Given the description of an element on the screen output the (x, y) to click on. 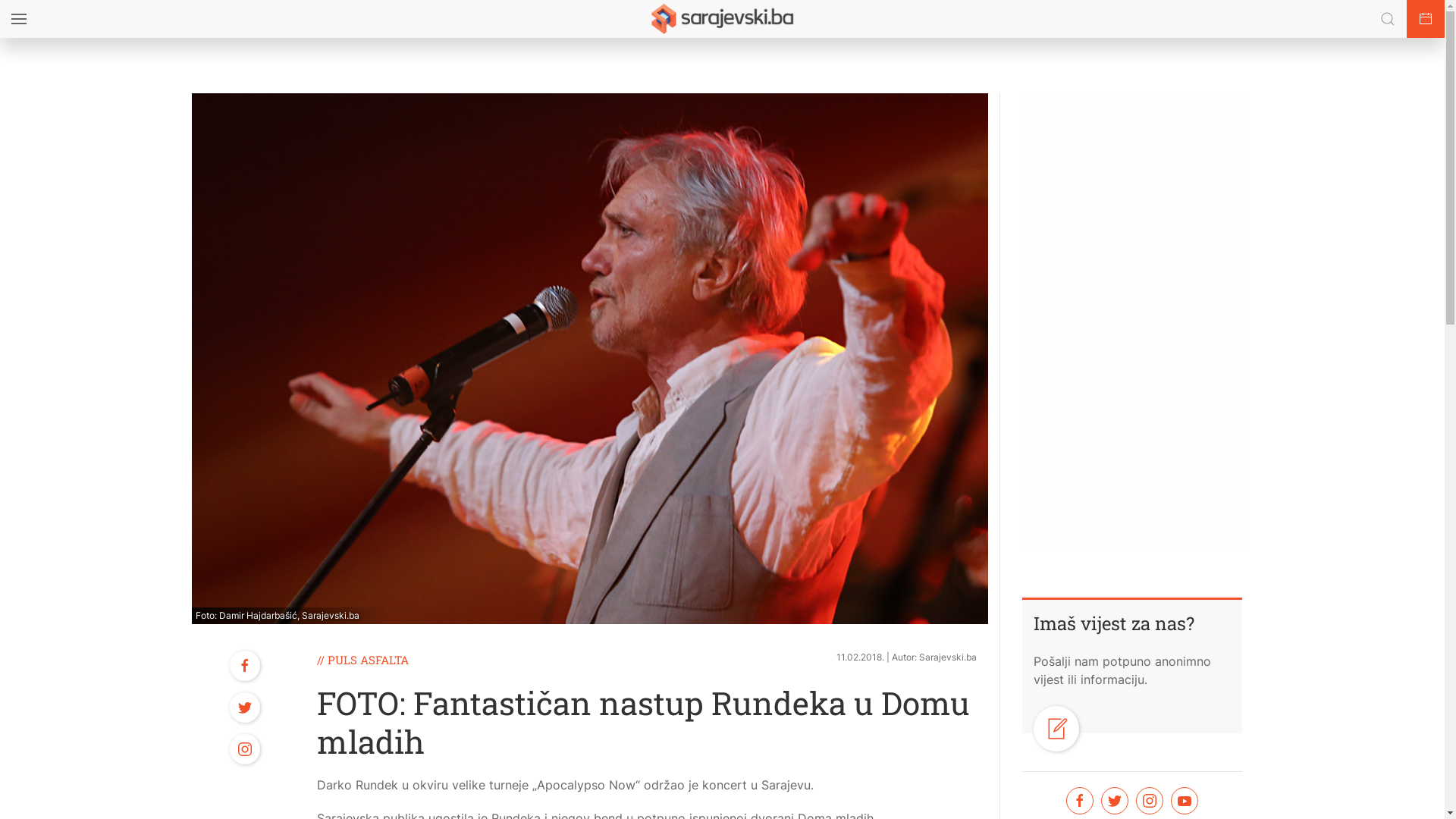
PULS ASFALTA Element type: text (367, 659)
3rd party ad content Element type: hover (1131, 320)
